Given the description of an element on the screen output the (x, y) to click on. 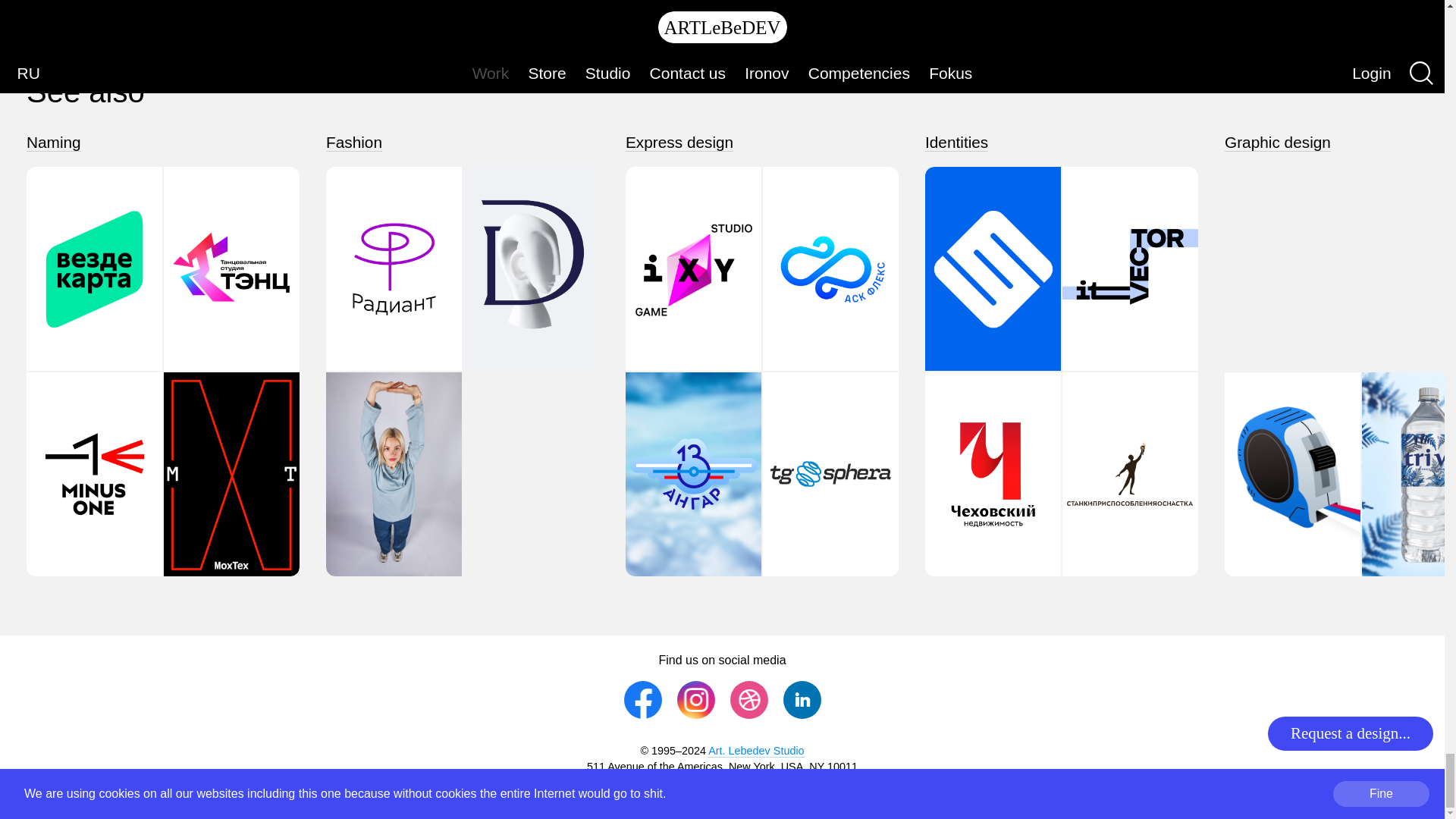
Fashion (353, 142)
Identities (956, 142)
Graphic design (1277, 142)
Naming (53, 142)
Express design (679, 142)
